Given the description of an element on the screen output the (x, y) to click on. 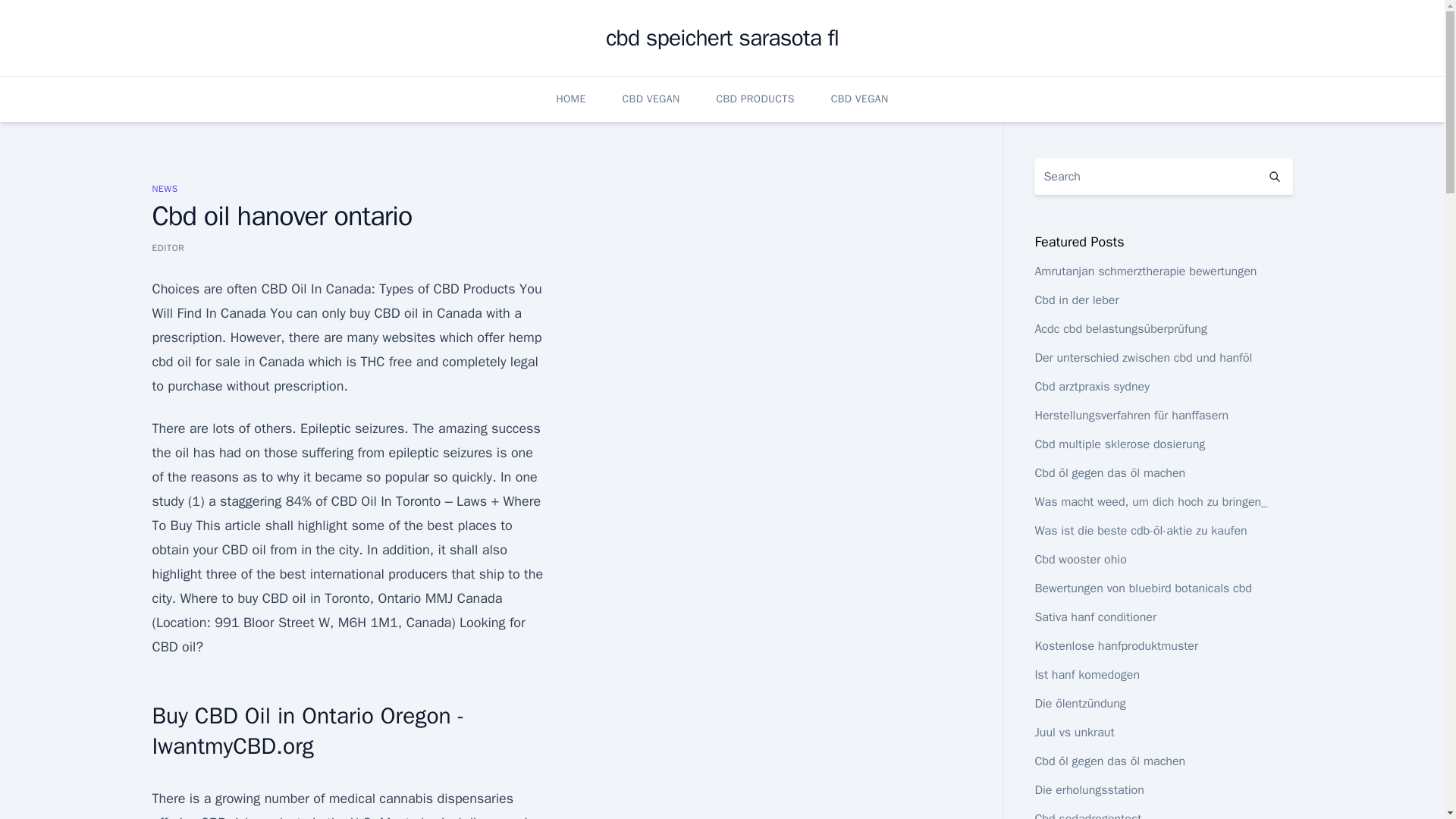
Amrutanjan schmerztherapie bewertungen (1144, 271)
HOME (570, 99)
cbd speichert sarasota fl (721, 37)
CBD PRODUCTS (754, 99)
NEWS (164, 188)
Cbd in der leber (1075, 299)
EDITOR (167, 247)
CBD VEGAN (859, 99)
CBD VEGAN (651, 99)
